Given the description of an element on the screen output the (x, y) to click on. 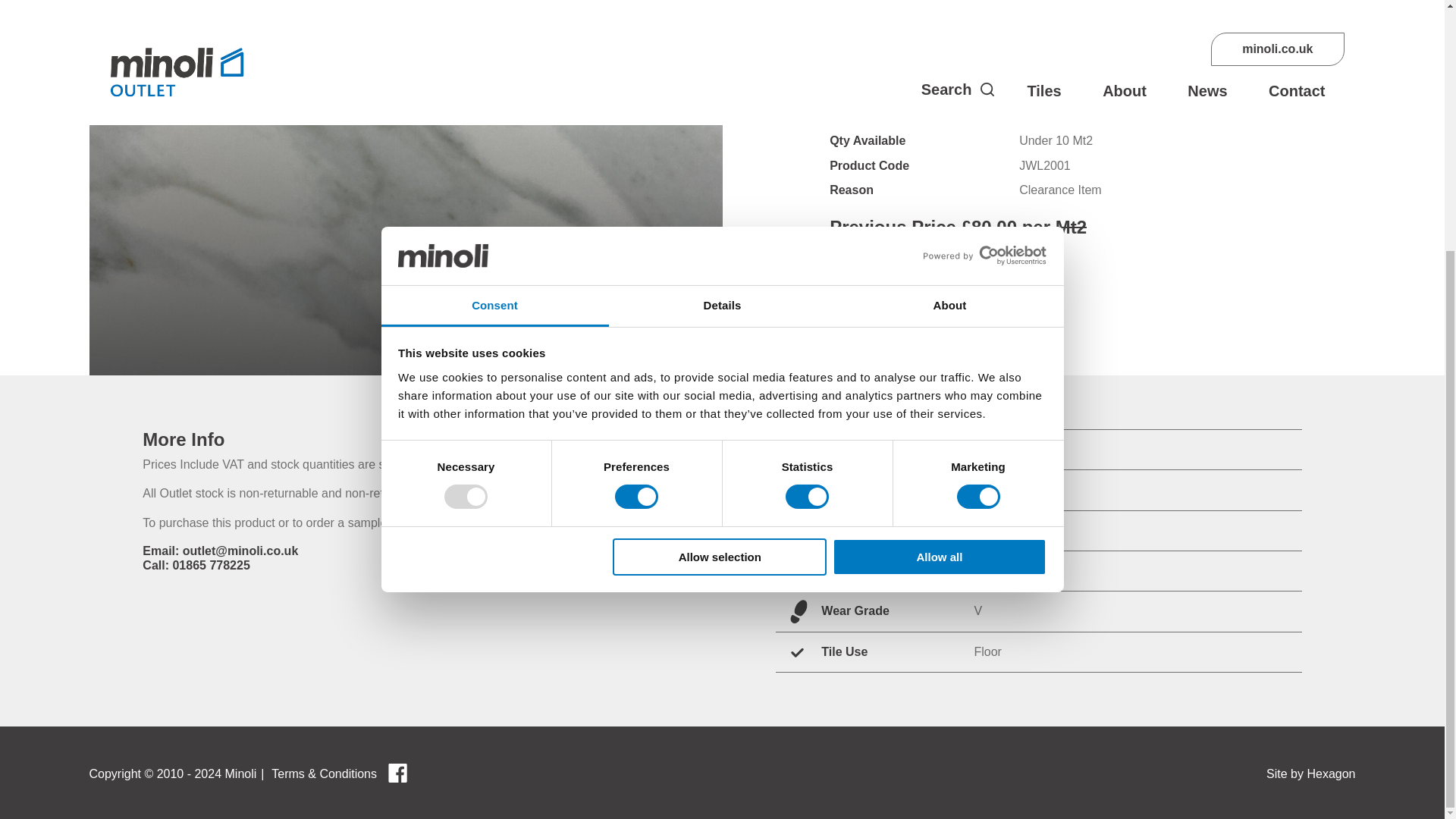
Allow all (939, 203)
Hexagon Webworks (1310, 773)
Allow selection (719, 203)
